Given the description of an element on the screen output the (x, y) to click on. 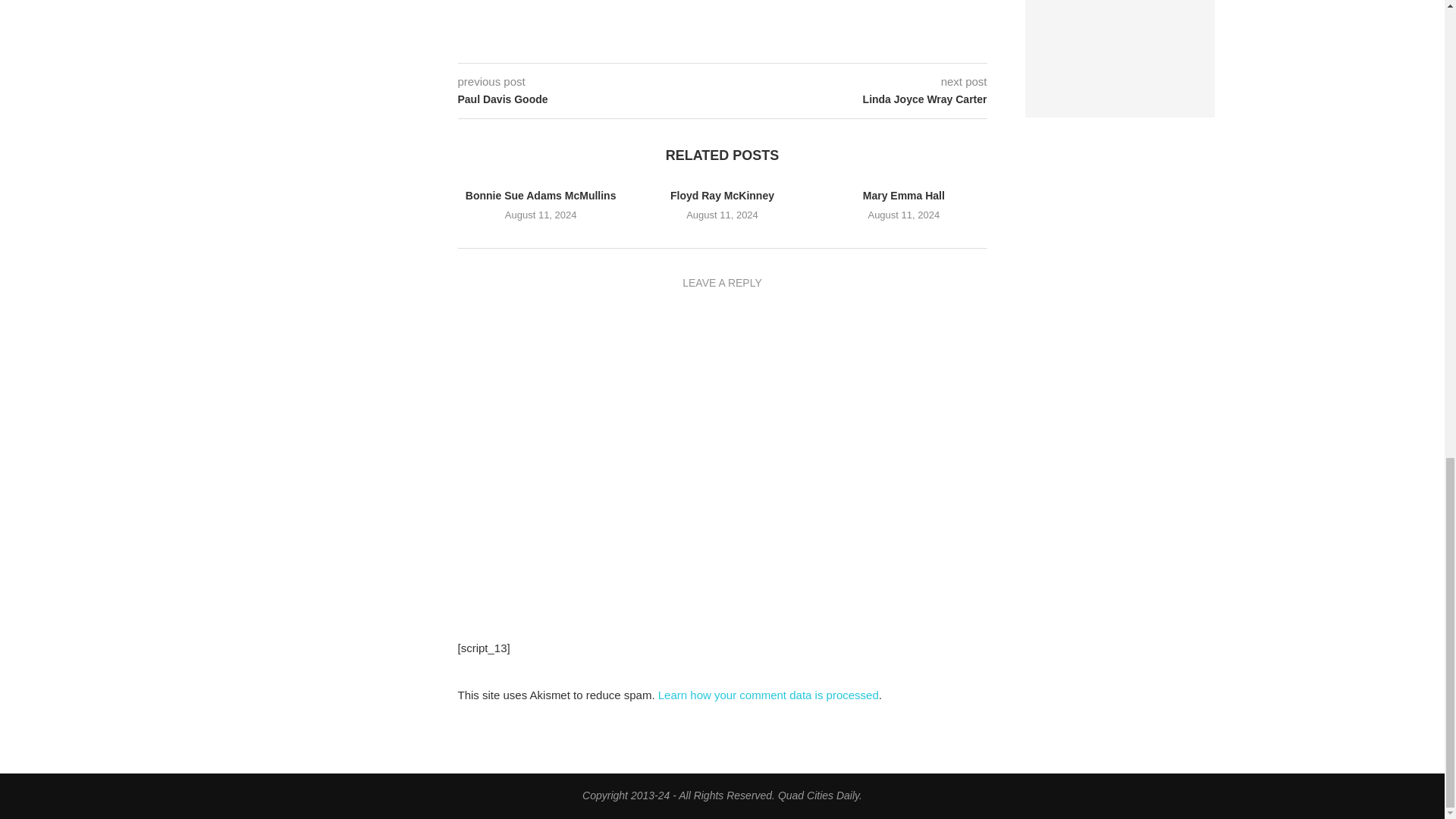
Bonnie Sue Adams McMullins (540, 195)
Floyd Ray McKinney (721, 195)
Mary Emma Hall (903, 195)
Linda Joyce Wray Carter (854, 99)
Paul Davis Goode (590, 99)
